Given the description of an element on the screen output the (x, y) to click on. 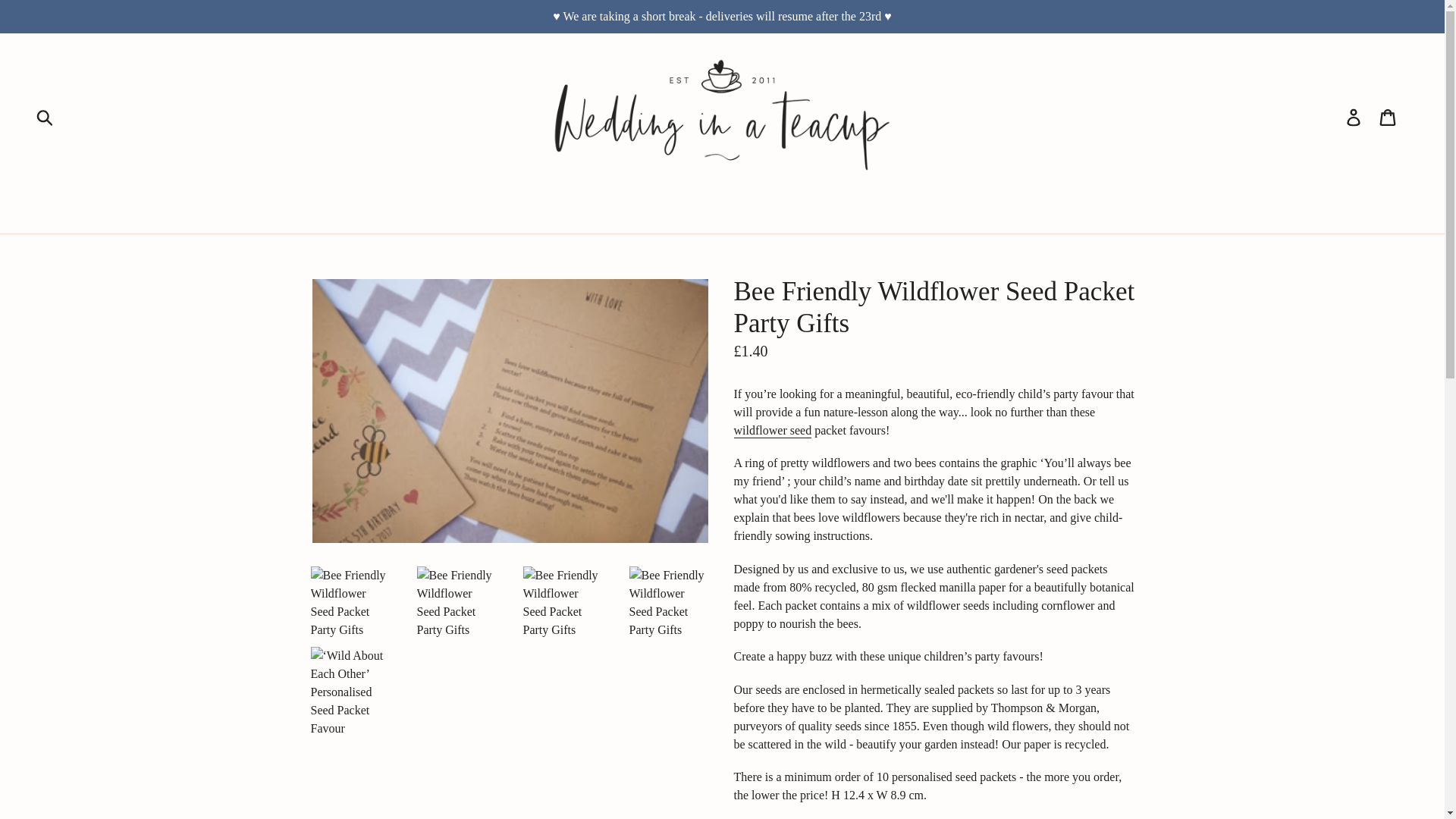
Submit (45, 116)
Log in (1354, 116)
wildflower seed (772, 431)
Cart (1388, 116)
